Given the description of an element on the screen output the (x, y) to click on. 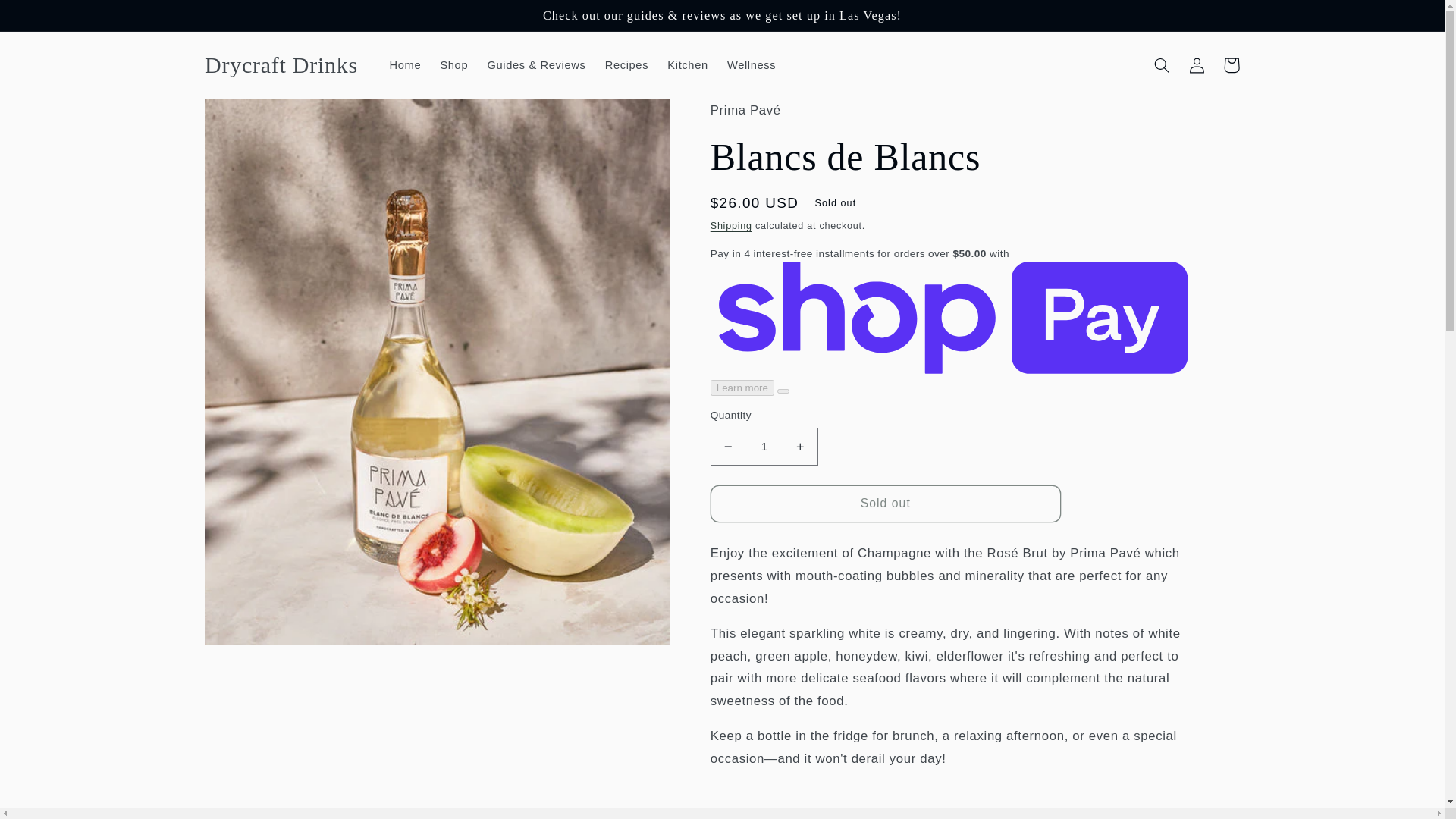
Increase quantity for Blancs de Blancs (799, 446)
Skip to content (48, 18)
Recipes (626, 64)
1 (764, 446)
Decrease quantity for Blancs de Blancs (728, 446)
Log in (1196, 64)
Shipping (731, 225)
Sold out (885, 503)
Cart (1231, 64)
Shop (453, 64)
Skip to product information (252, 116)
Drycraft Drinks (281, 65)
Kitchen (687, 64)
Home (405, 64)
Wellness (751, 64)
